Given the description of an element on the screen output the (x, y) to click on. 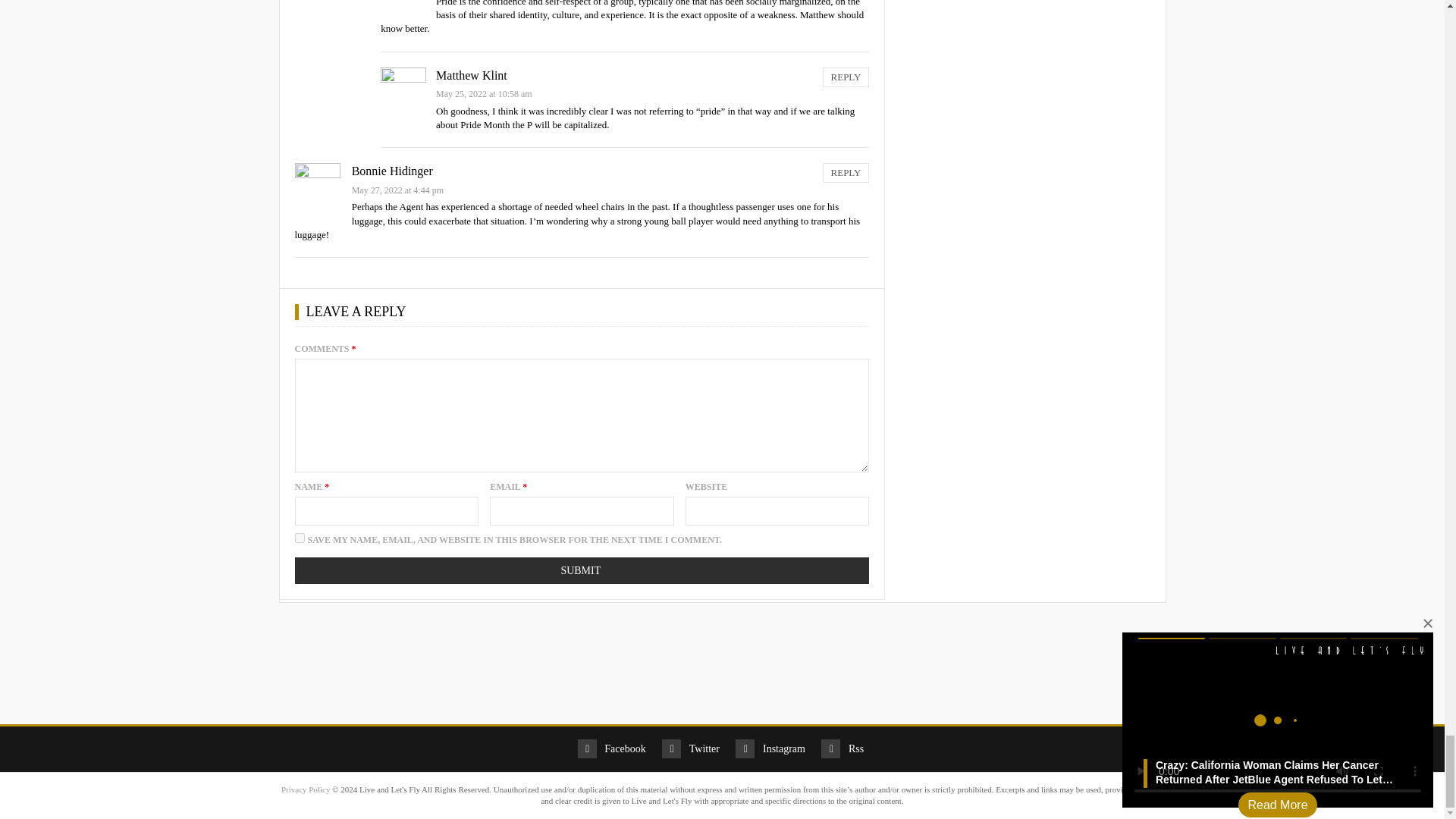
yes (299, 537)
Submit  (581, 570)
